Given the description of an element on the screen output the (x, y) to click on. 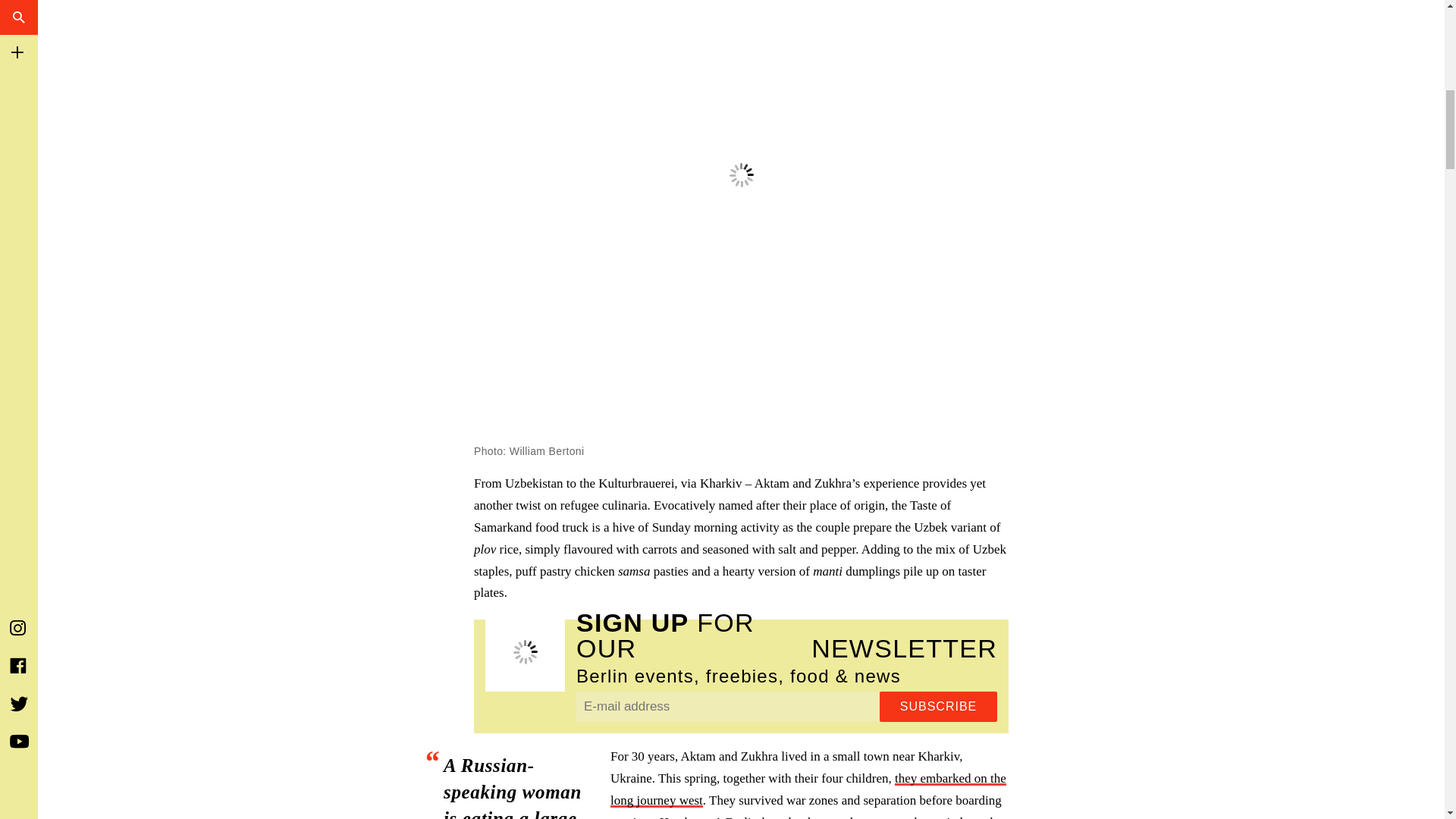
they embarked on the long journey west (808, 789)
Subscribe (938, 706)
Subscribe (938, 706)
